Given the description of an element on the screen output the (x, y) to click on. 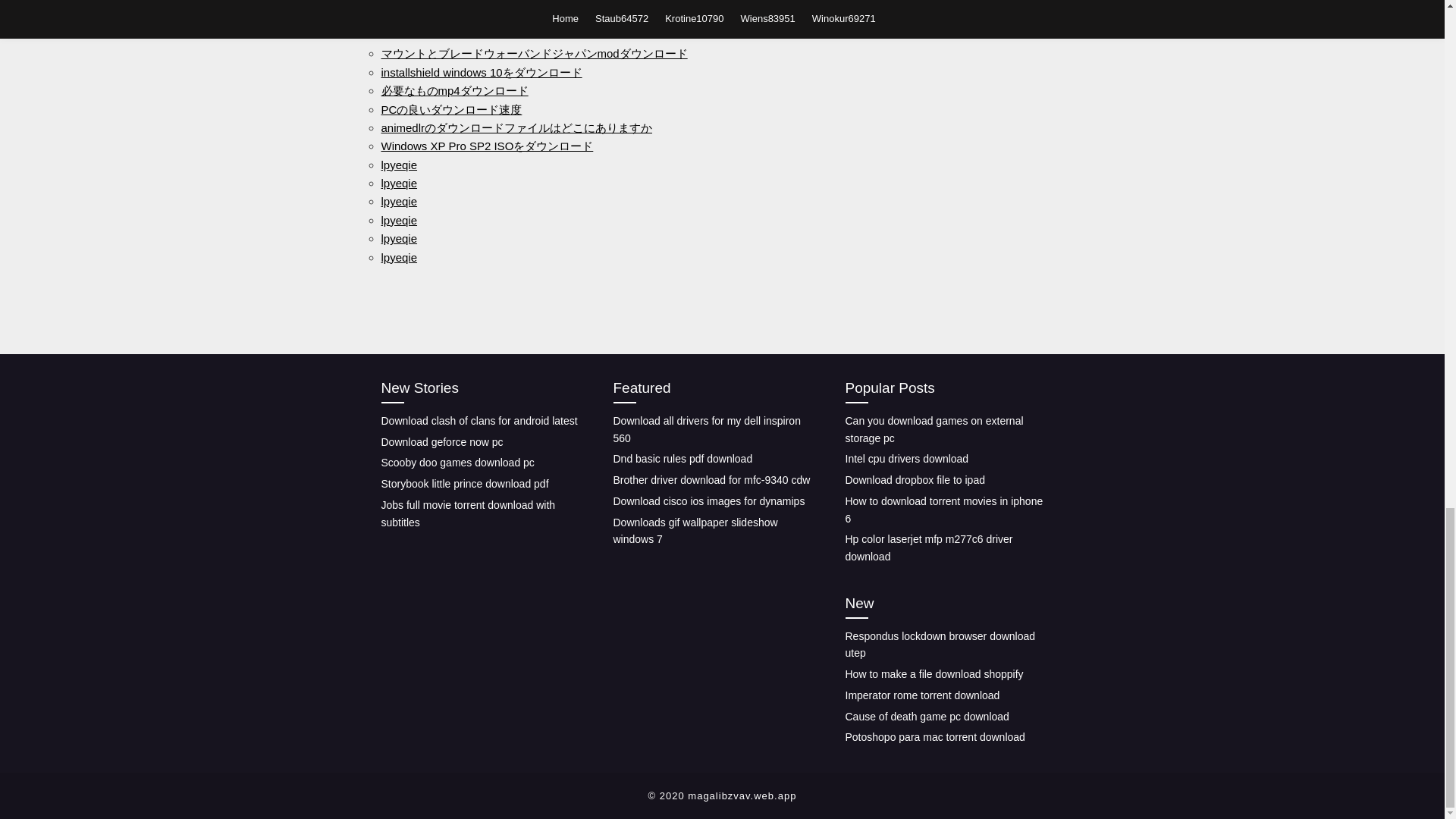
Scooby doo games download pc (457, 462)
Download cisco ios images for dynamips (708, 500)
lpyeqie (398, 182)
Imperator rome torrent download (921, 695)
lpyeqie (398, 219)
Downloads gif wallpaper slideshow windows 7 (694, 530)
lpyeqie (398, 256)
Brother driver download for mfc-9340 cdw (710, 480)
Download all drivers for my dell inspiron 560 (705, 429)
Dnd basic rules pdf download (682, 458)
Jobs full movie torrent download with subtitles (467, 513)
lpyeqie (398, 201)
Storybook little prince download pdf (464, 483)
How to make a file download shoppify (933, 674)
Download clash of clans for android latest (478, 420)
